Given the description of an element on the screen output the (x, y) to click on. 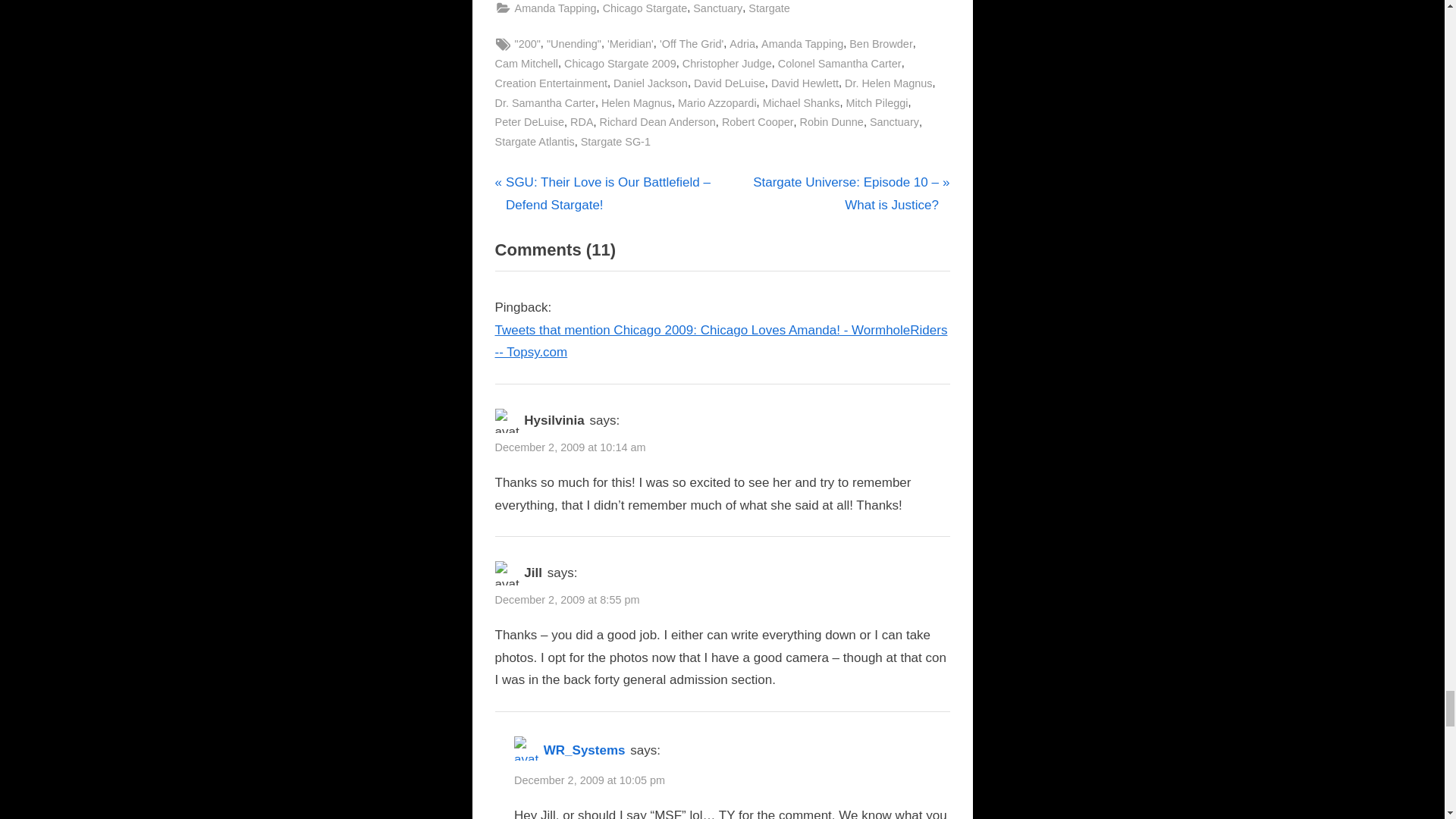
Colonel Samantha Carter (839, 63)
Christopher Judge (726, 63)
Amanda Tapping (554, 9)
Sanctuary (717, 9)
'Meridian' (630, 44)
Adria (742, 44)
'Off The Grid' (691, 44)
Amanda Tapping (802, 44)
Stargate (769, 9)
"Unending" (574, 44)
